Given the description of an element on the screen output the (x, y) to click on. 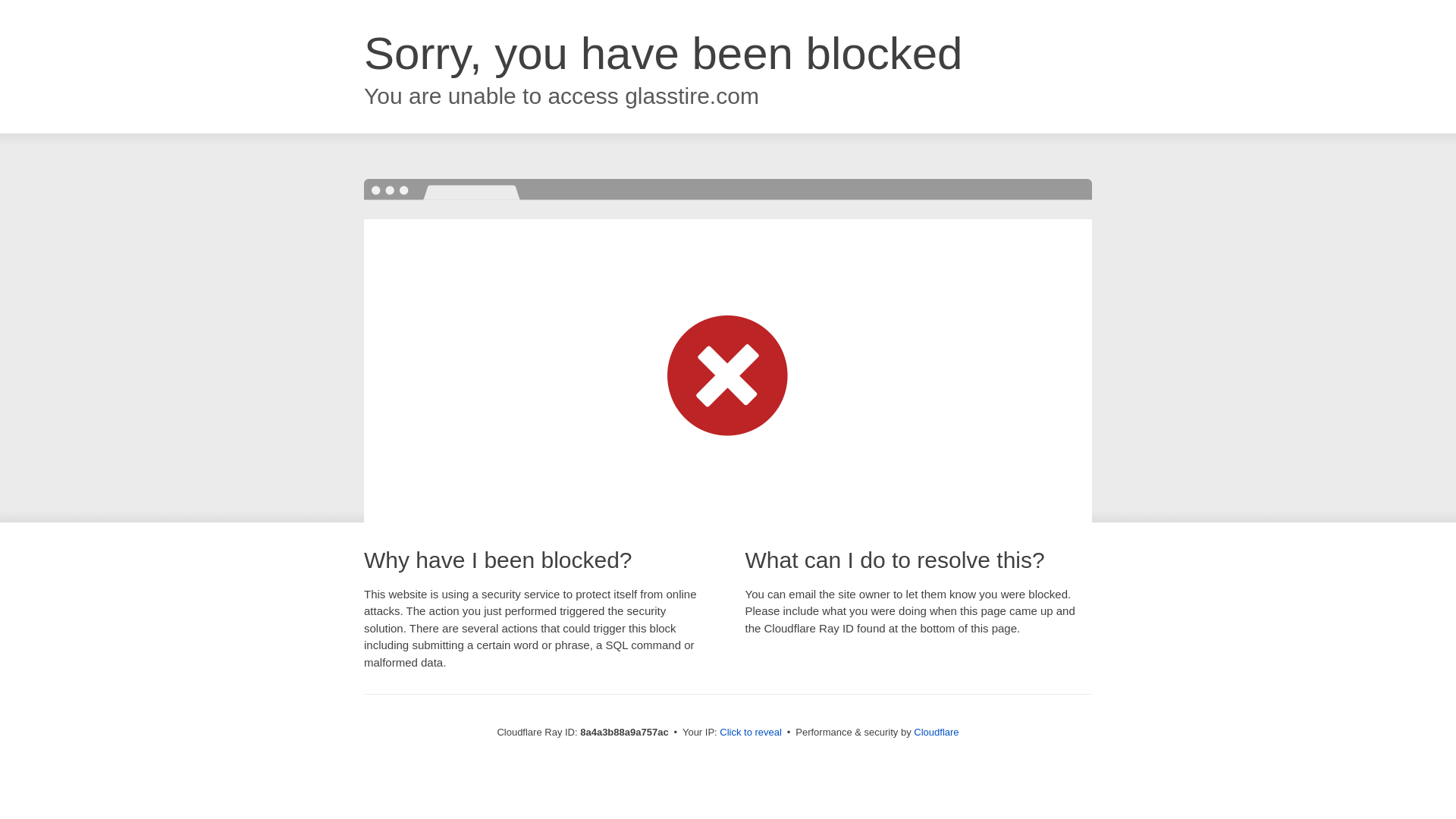
Click to reveal (750, 732)
Cloudflare (936, 731)
